Given the description of an element on the screen output the (x, y) to click on. 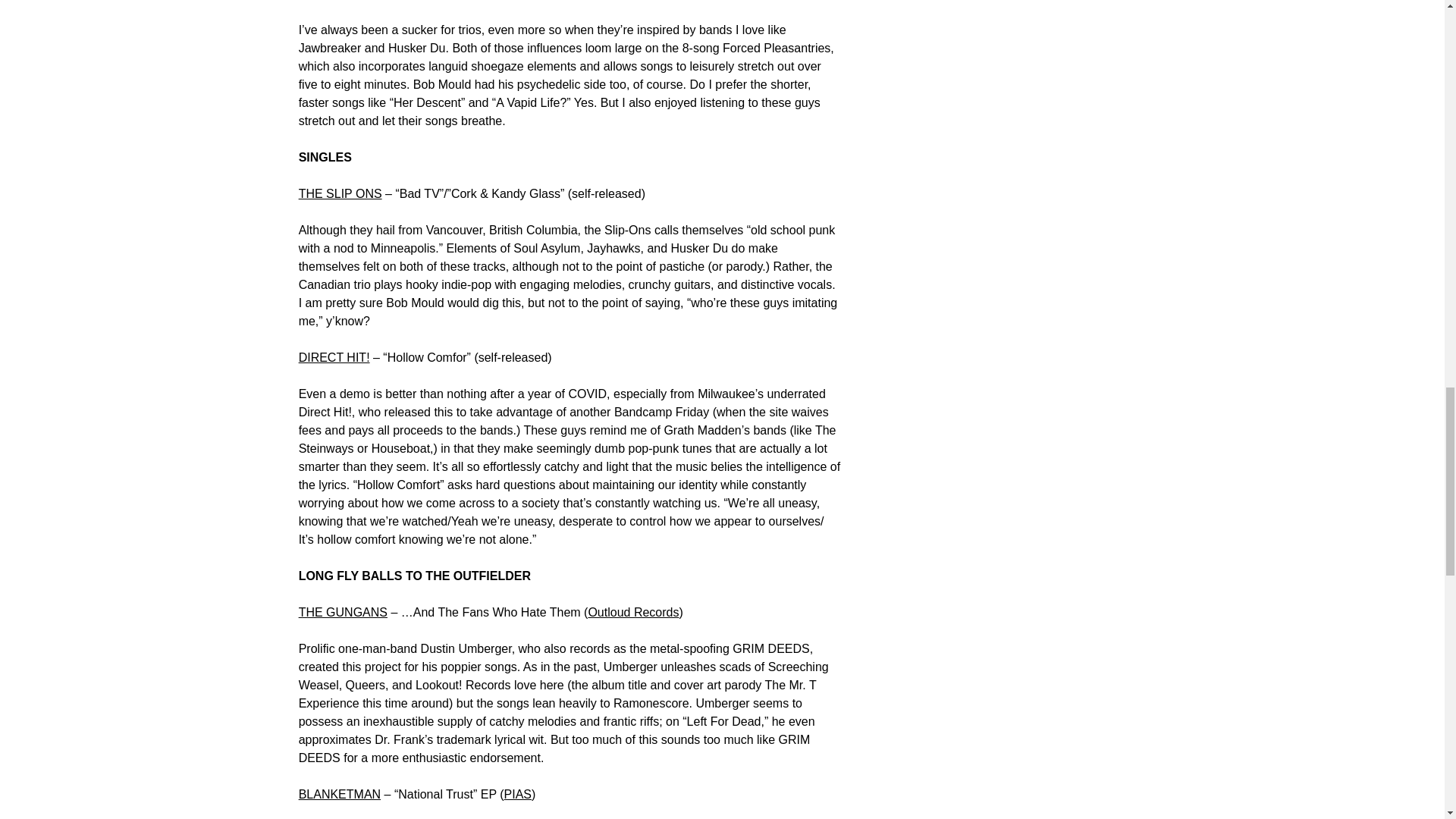
Outloud Records (633, 612)
BLANKETMAN (339, 793)
DIRECT HIT! (333, 357)
THE SLIP ONS (339, 193)
PIAS (517, 793)
THE GUNGANS (342, 612)
